Given the description of an element on the screen output the (x, y) to click on. 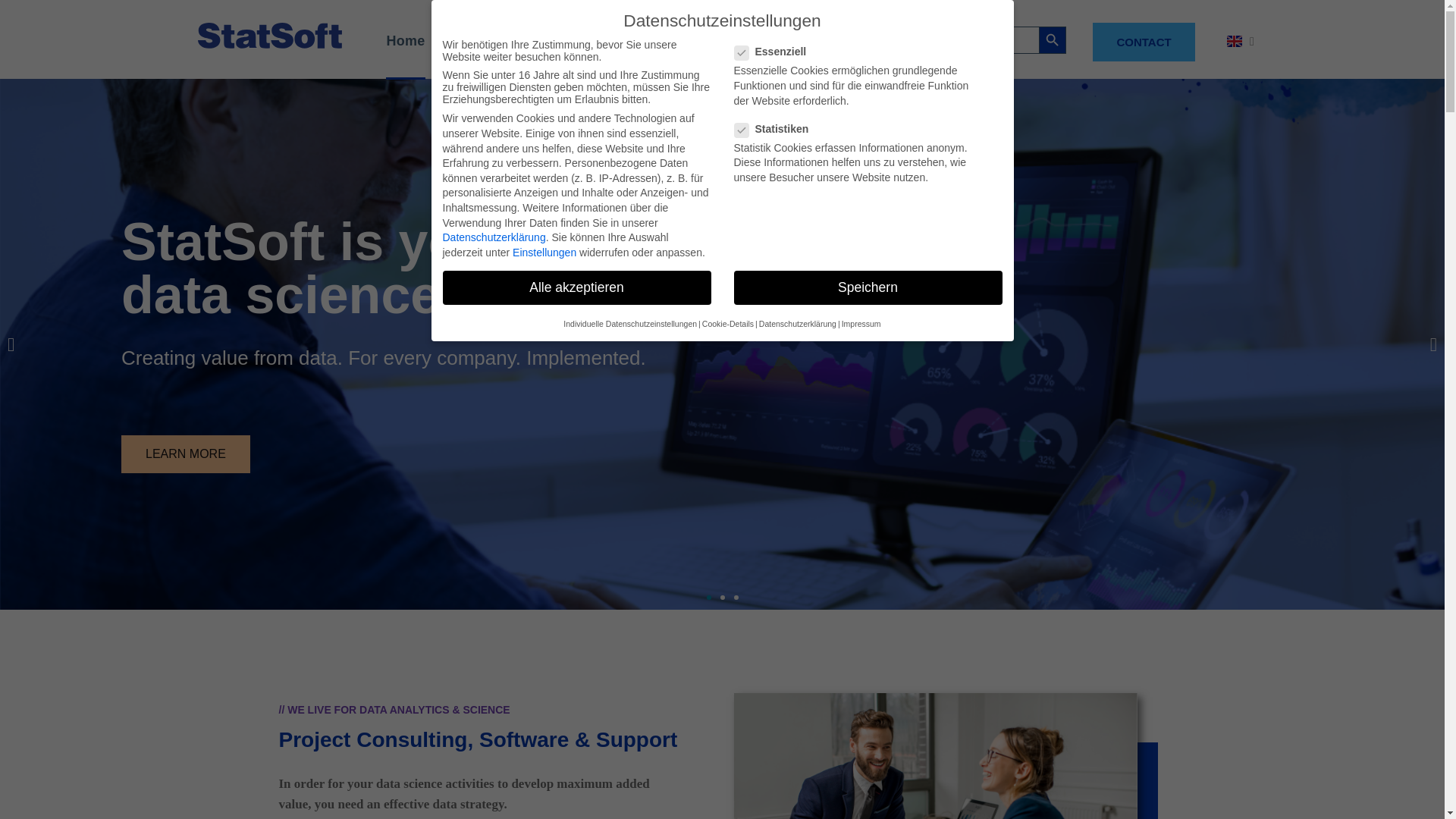
Open Cookie Preferences (32, 799)
